Given the description of an element on the screen output the (x, y) to click on. 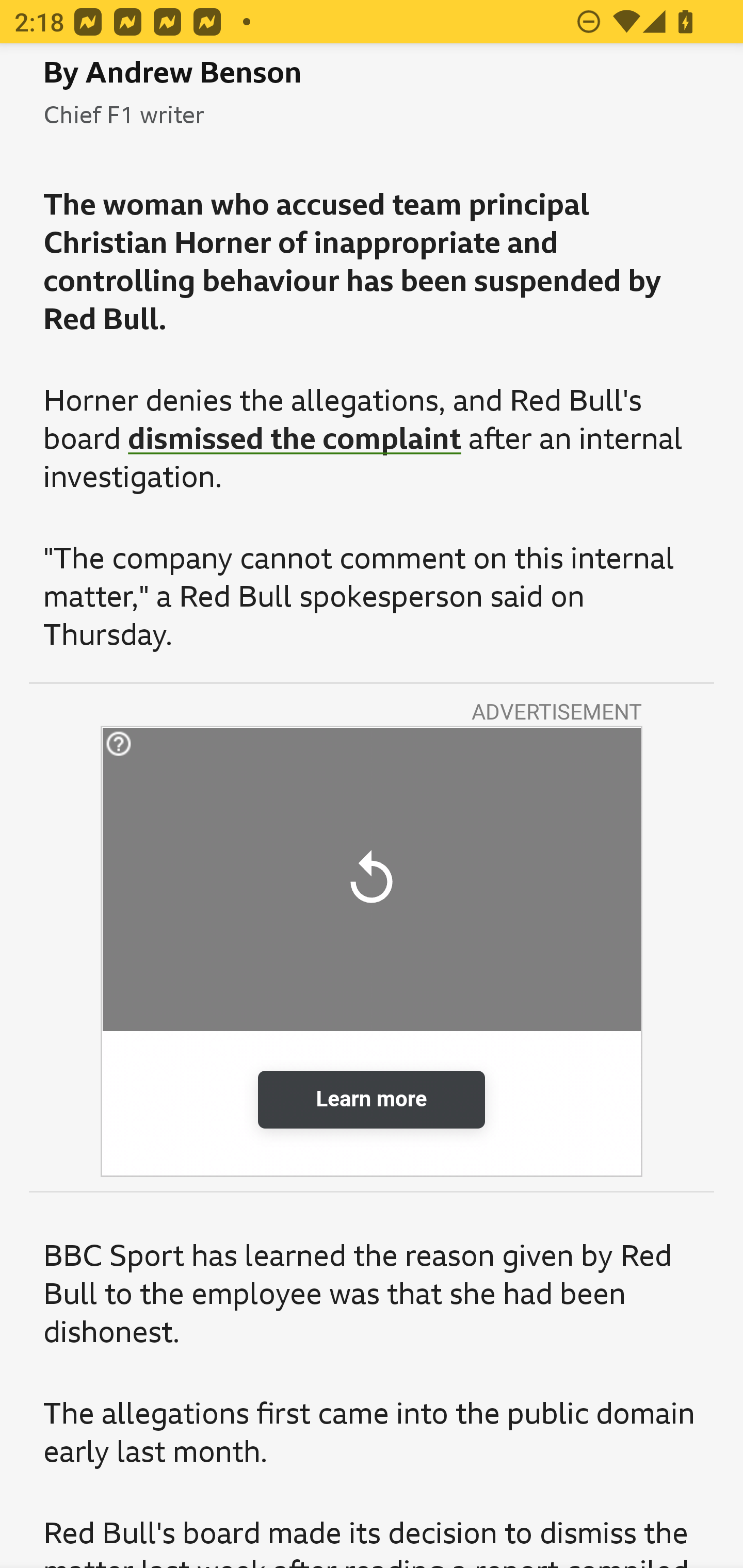
help_outline_white_24dp_with_3px_trbl_padding (191, 743)
Replay Learn more (371, 951)
Replay (371, 878)
Learn more (371, 1099)
